Given the description of an element on the screen output the (x, y) to click on. 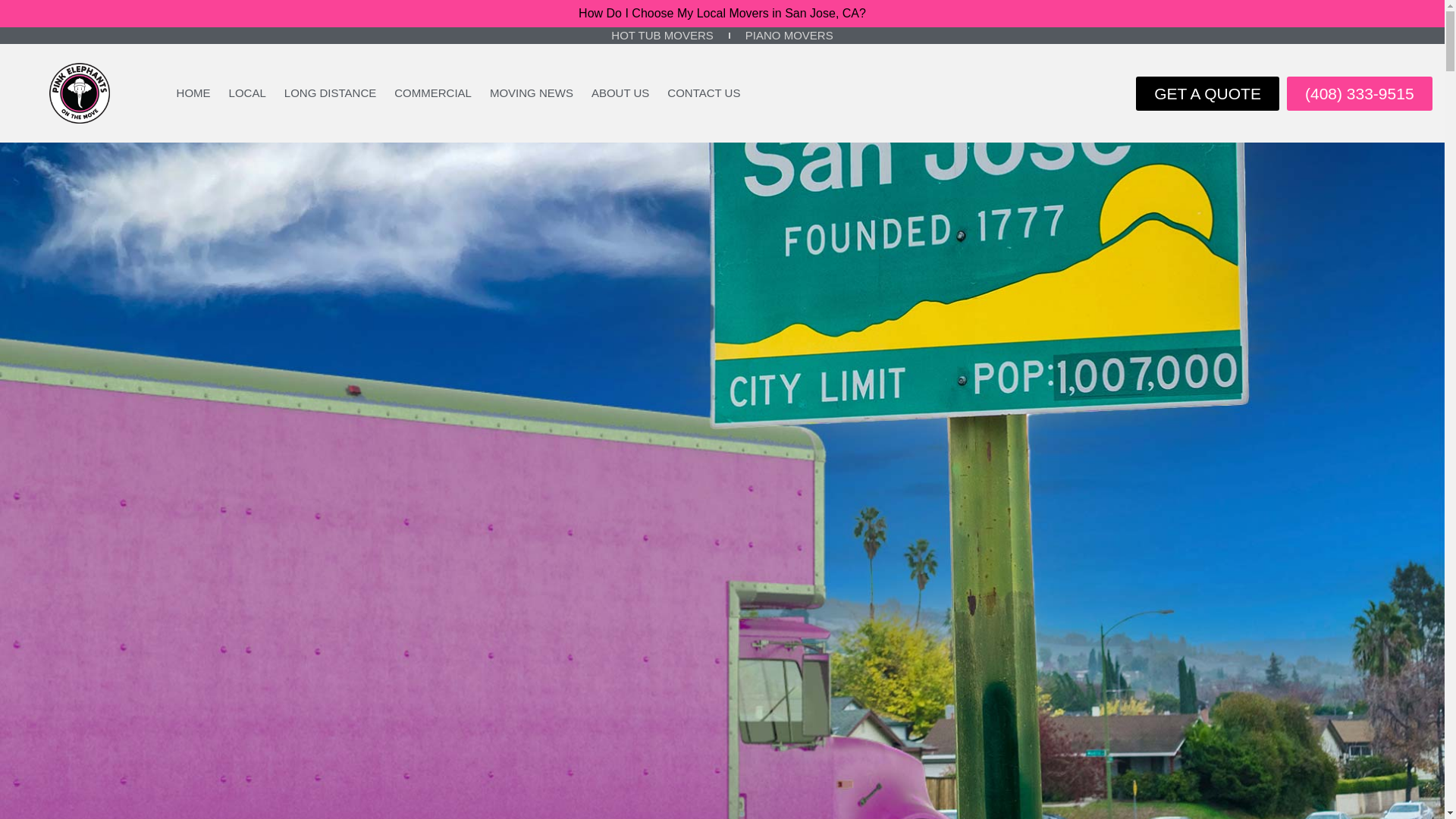
CONTACT US (703, 93)
PIANO MOVERS (789, 35)
GET A QUOTE (1207, 92)
MOVING NEWS (531, 93)
COMMERCIAL (432, 93)
ABOUT US (620, 93)
LONG DISTANCE (330, 93)
HOME (193, 93)
LOCAL (247, 93)
HOT TUB MOVERS (661, 35)
